Given the description of an element on the screen output the (x, y) to click on. 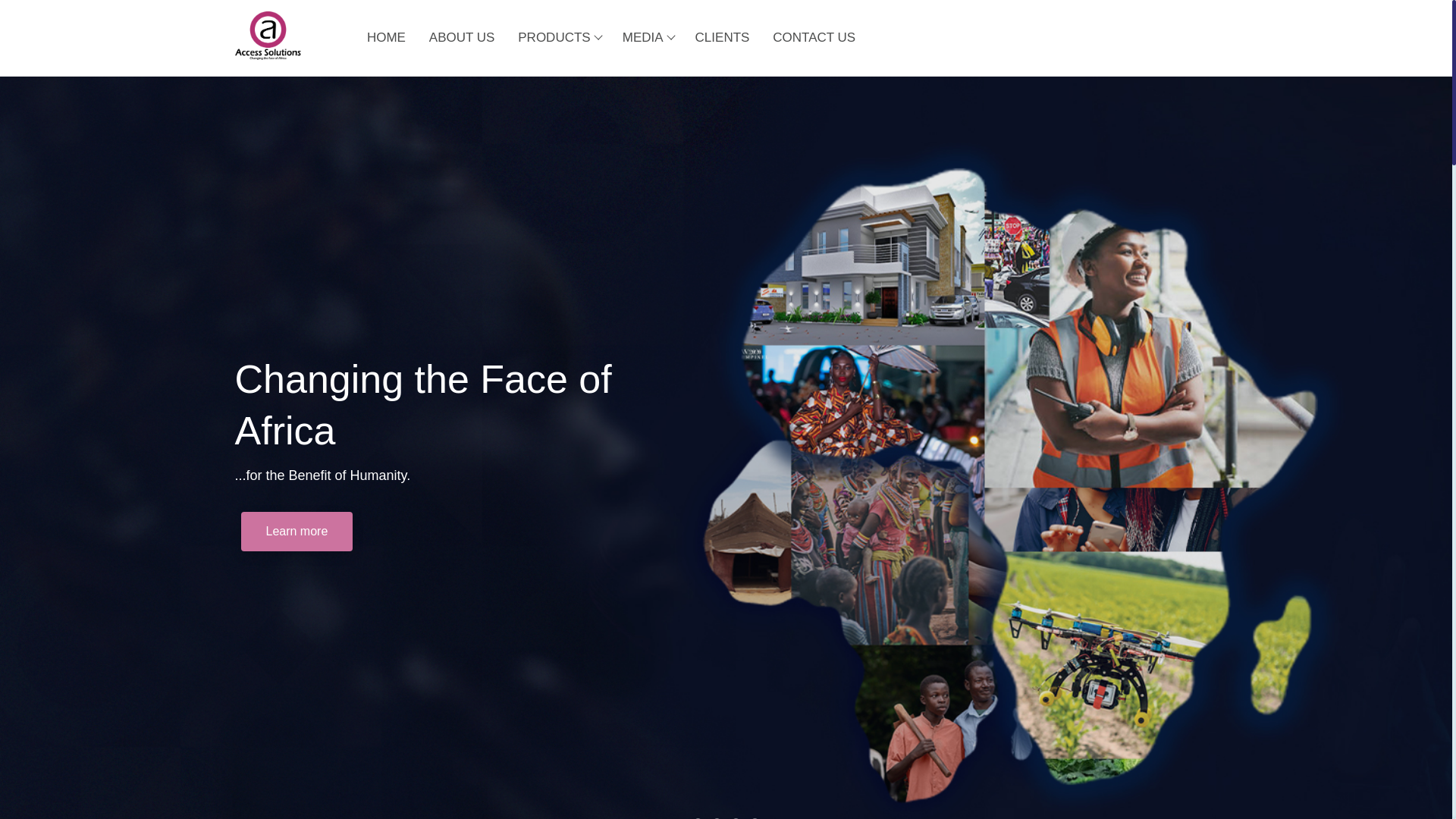
CLIENTS (722, 37)
PRODUCTS (558, 37)
HOME (386, 37)
CONTACT US (813, 37)
MEDIA (646, 37)
Learn more (297, 531)
ABOUT US (461, 37)
